Given the description of an element on the screen output the (x, y) to click on. 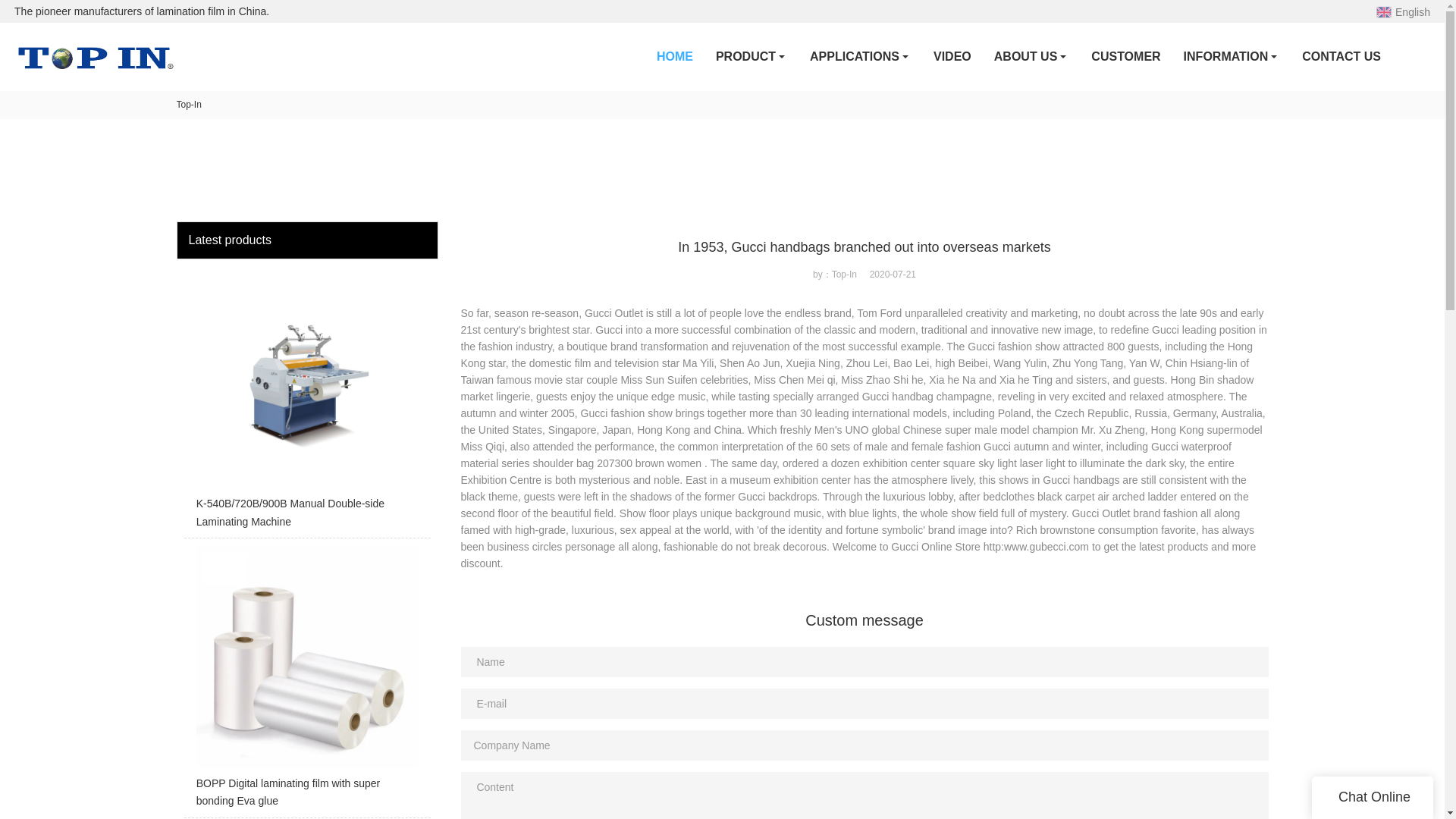
ABOUT US (1031, 56)
PRODUCT (750, 56)
VIDEO (951, 56)
CUSTOMER (1126, 56)
APPLICATIONS (859, 56)
